Given the description of an element on the screen output the (x, y) to click on. 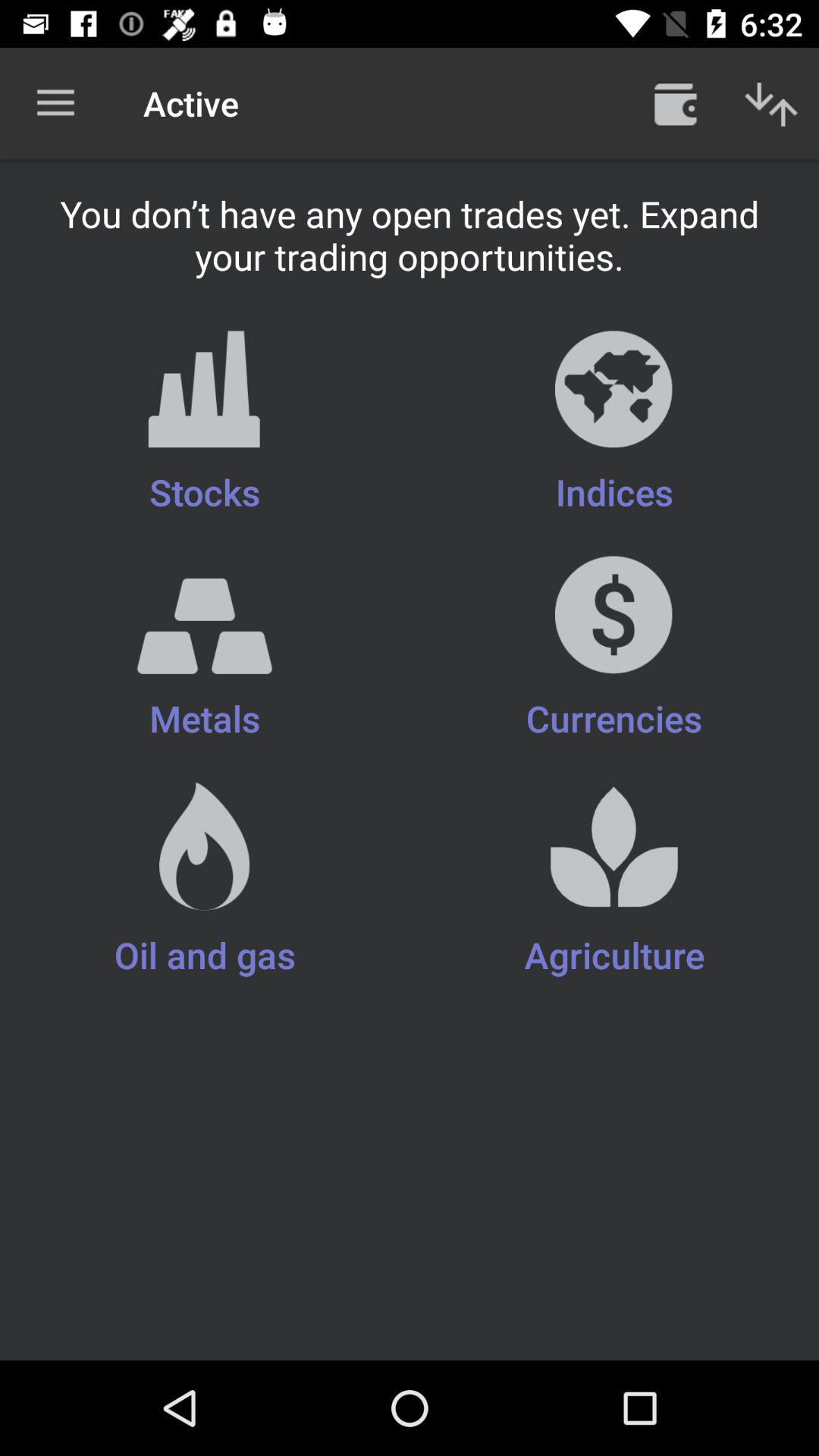
turn on the stocks (204, 423)
